Given the description of an element on the screen output the (x, y) to click on. 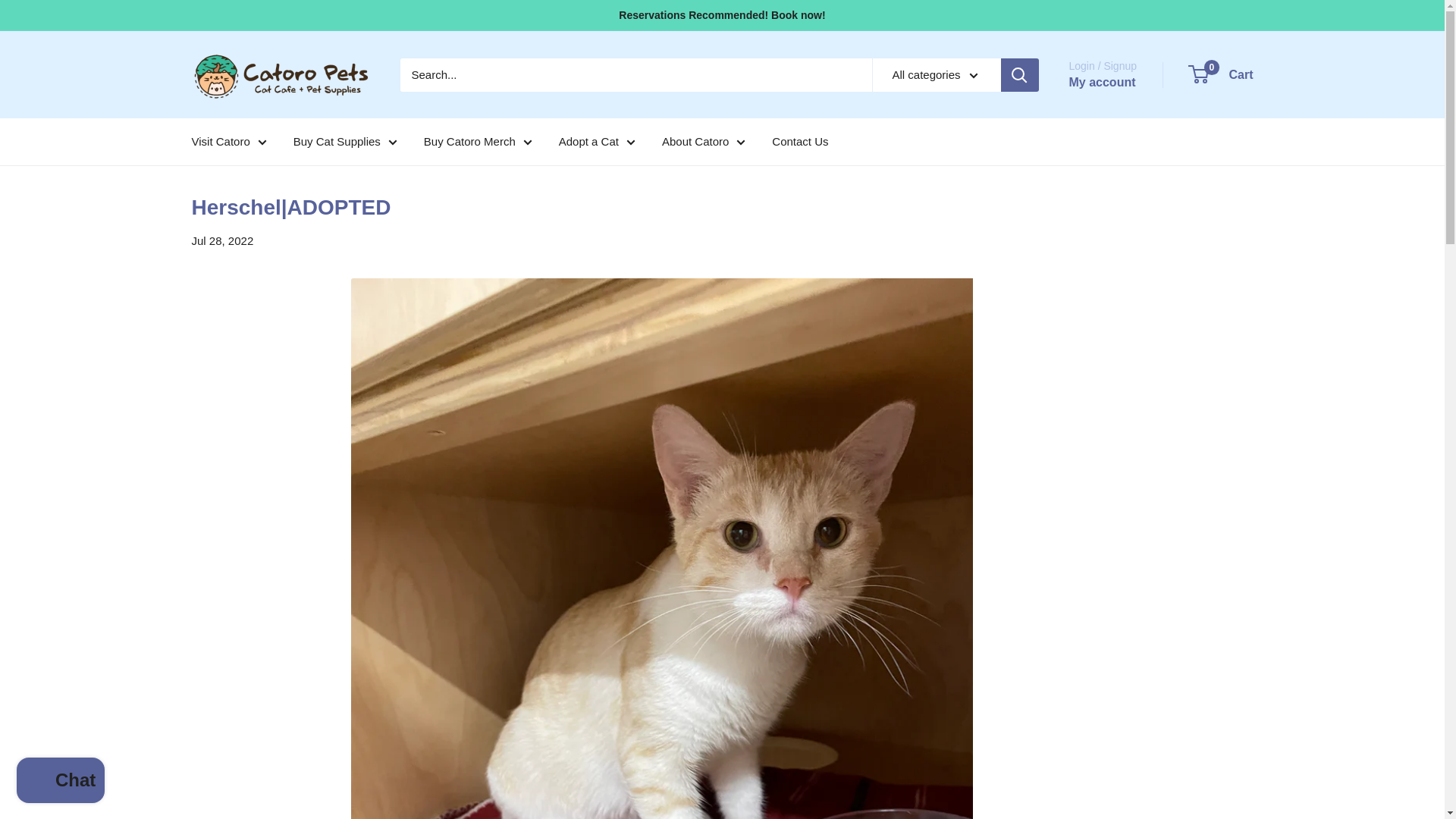
Shopify online store chat (60, 781)
Reservations Recommended! Book now! (721, 15)
